Given the description of an element on the screen output the (x, y) to click on. 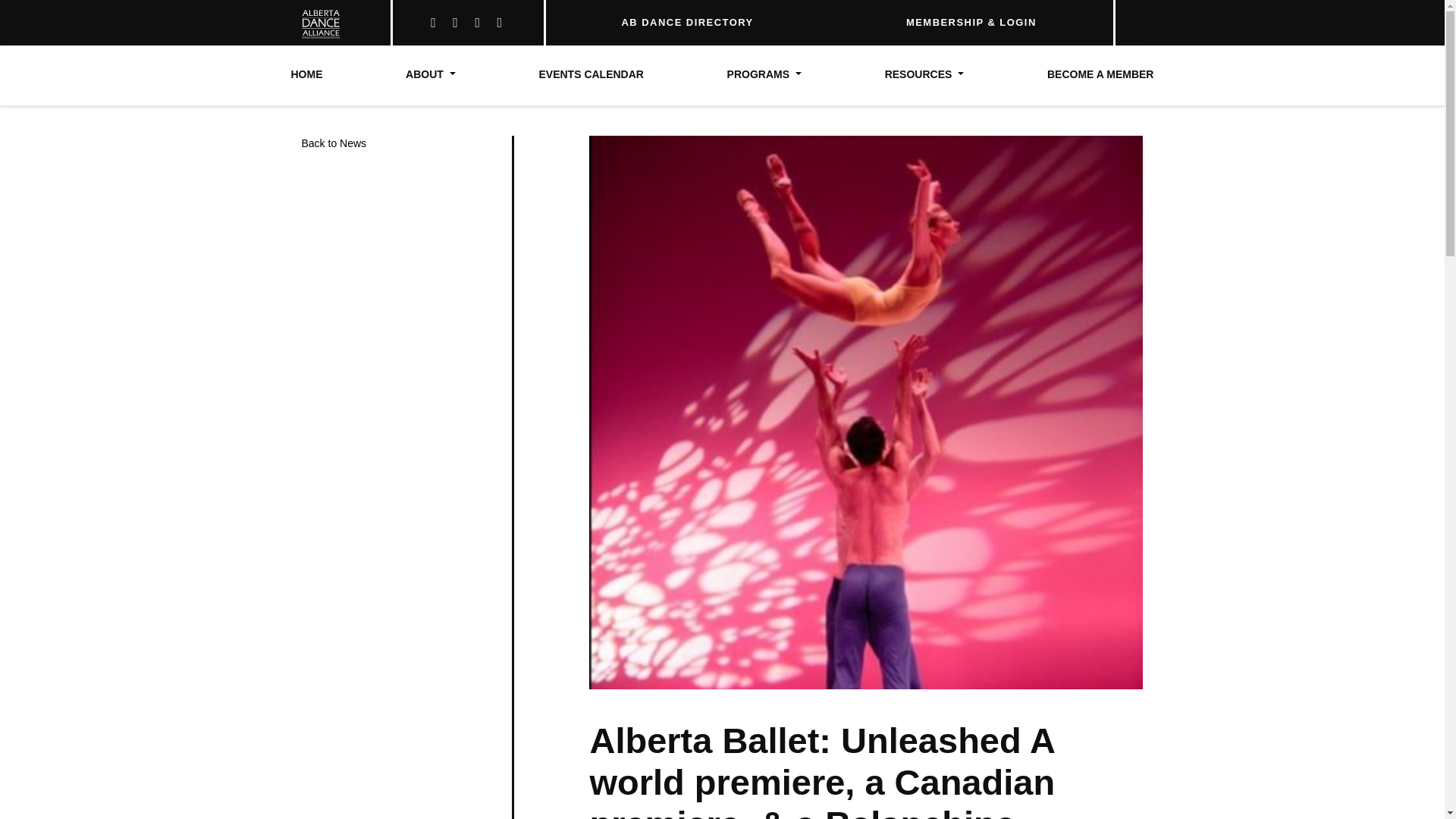
Events Calendar (590, 75)
Programs (764, 75)
Search (1098, 17)
PROGRAMS (764, 75)
BECOME A MEMBER (1100, 75)
RESOURCES (924, 75)
HOME (307, 75)
EVENTS CALENDAR (590, 75)
Alberta Dance Alliance (315, 22)
Search (1098, 17)
AB DANCE DIRECTORY (687, 22)
Home (307, 75)
ABOUT (430, 75)
About (430, 75)
